Given the description of an element on the screen output the (x, y) to click on. 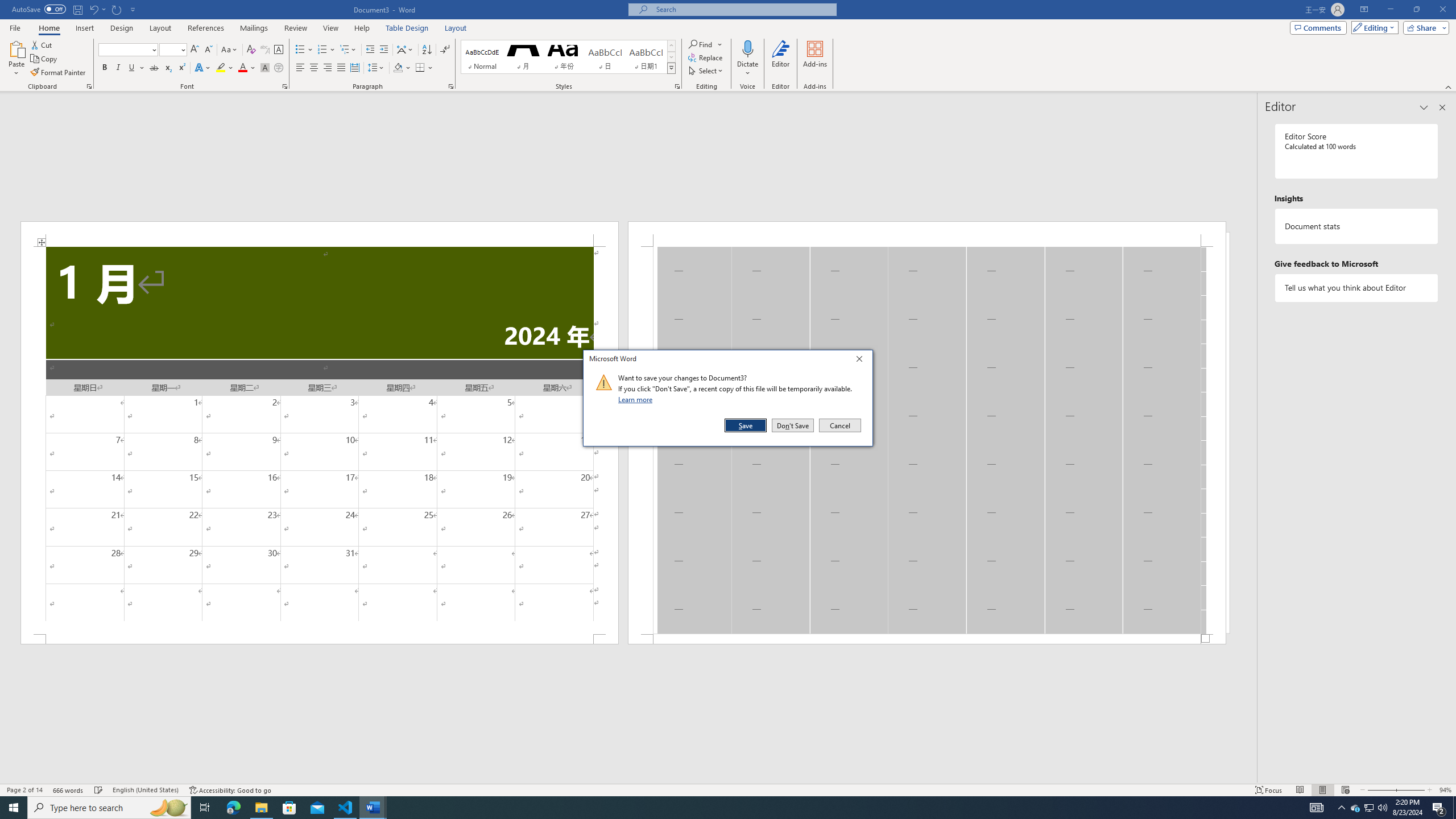
Tell us what you think about Editor (1356, 288)
Document statistics (1356, 226)
